Given the description of an element on the screen output the (x, y) to click on. 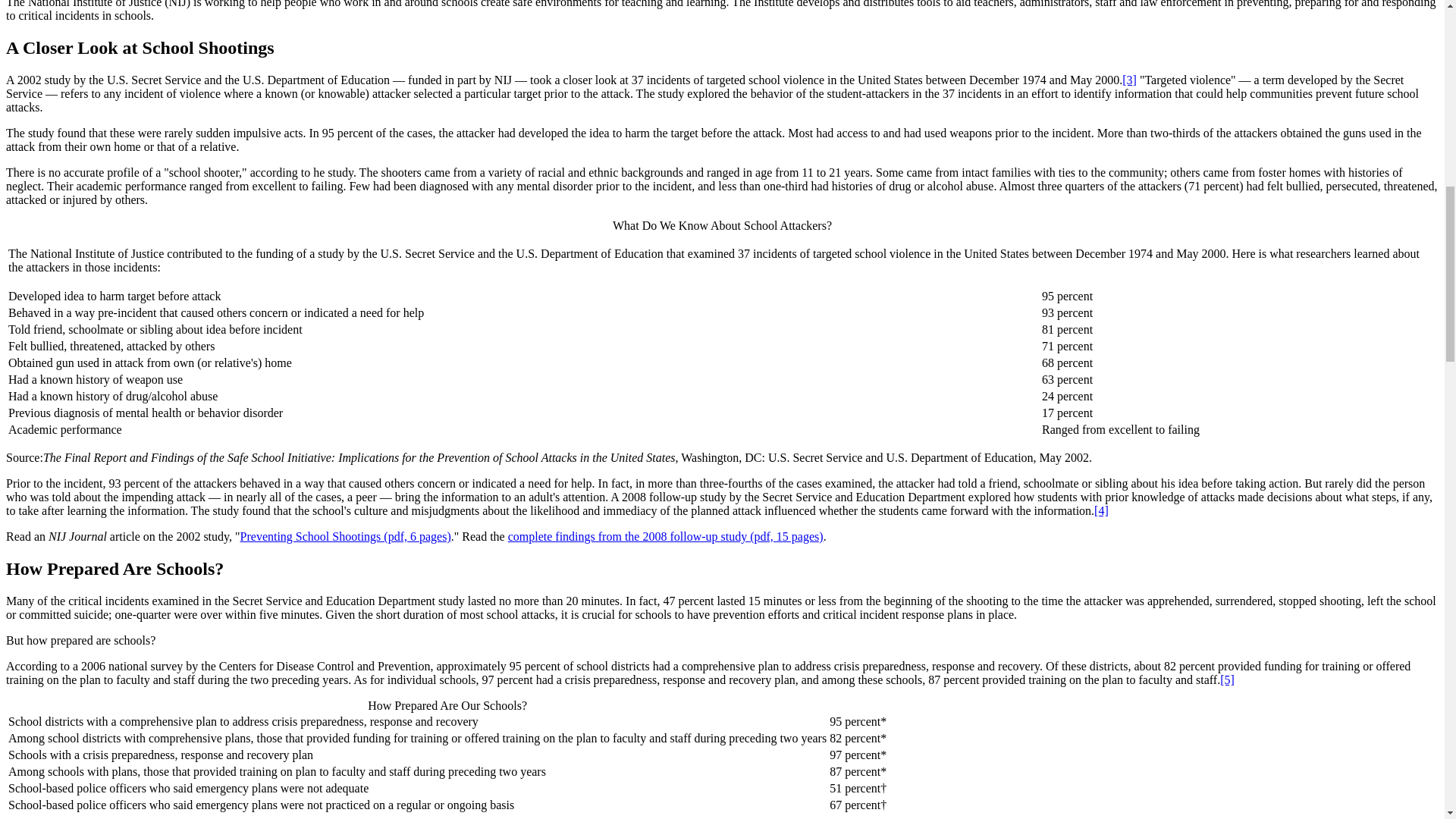
National Institute of Justice (345, 535)
